Given the description of an element on the screen output the (x, y) to click on. 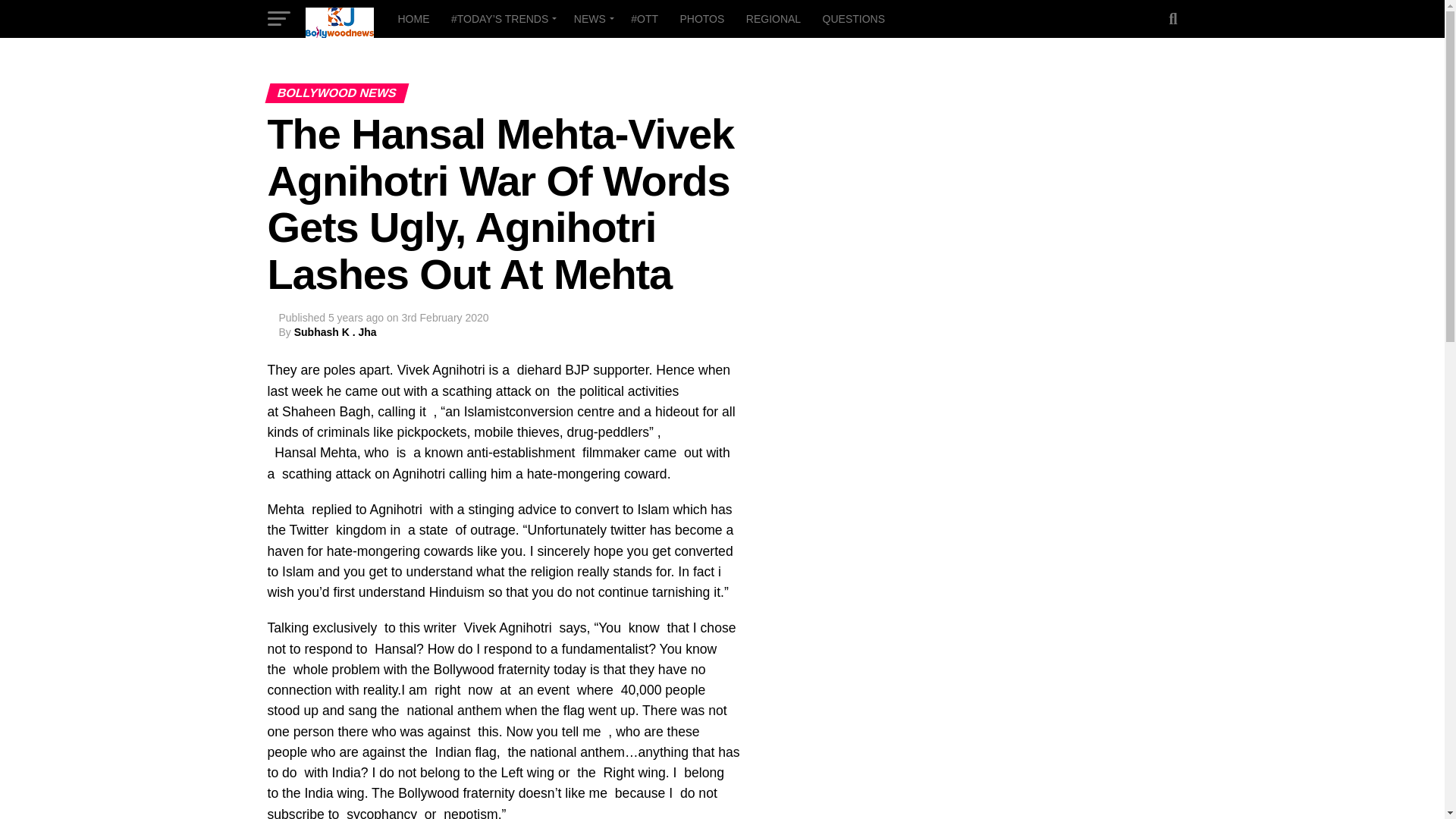
PHOTOS (701, 18)
HOME (413, 18)
NEWS (591, 18)
